Given the description of an element on the screen output the (x, y) to click on. 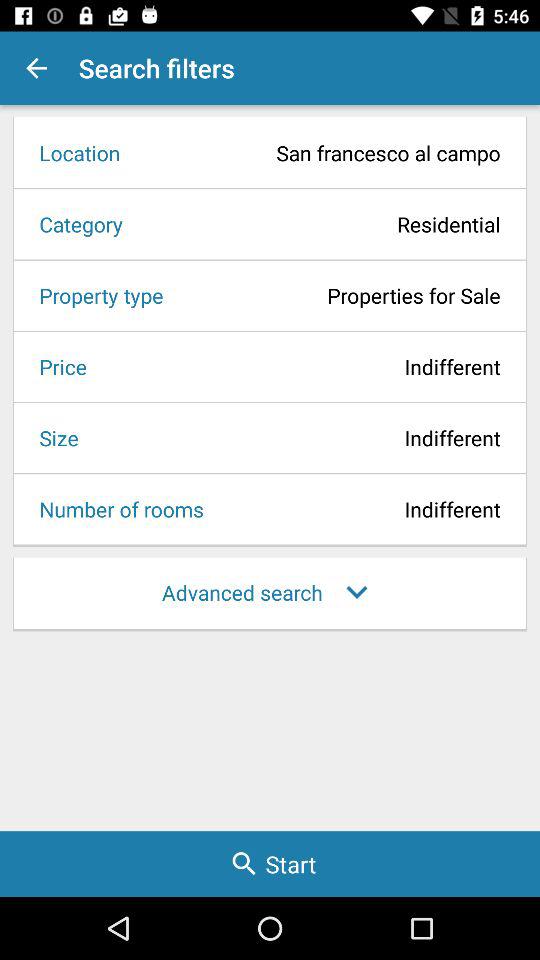
choose icon next to residential item (74, 224)
